Given the description of an element on the screen output the (x, y) to click on. 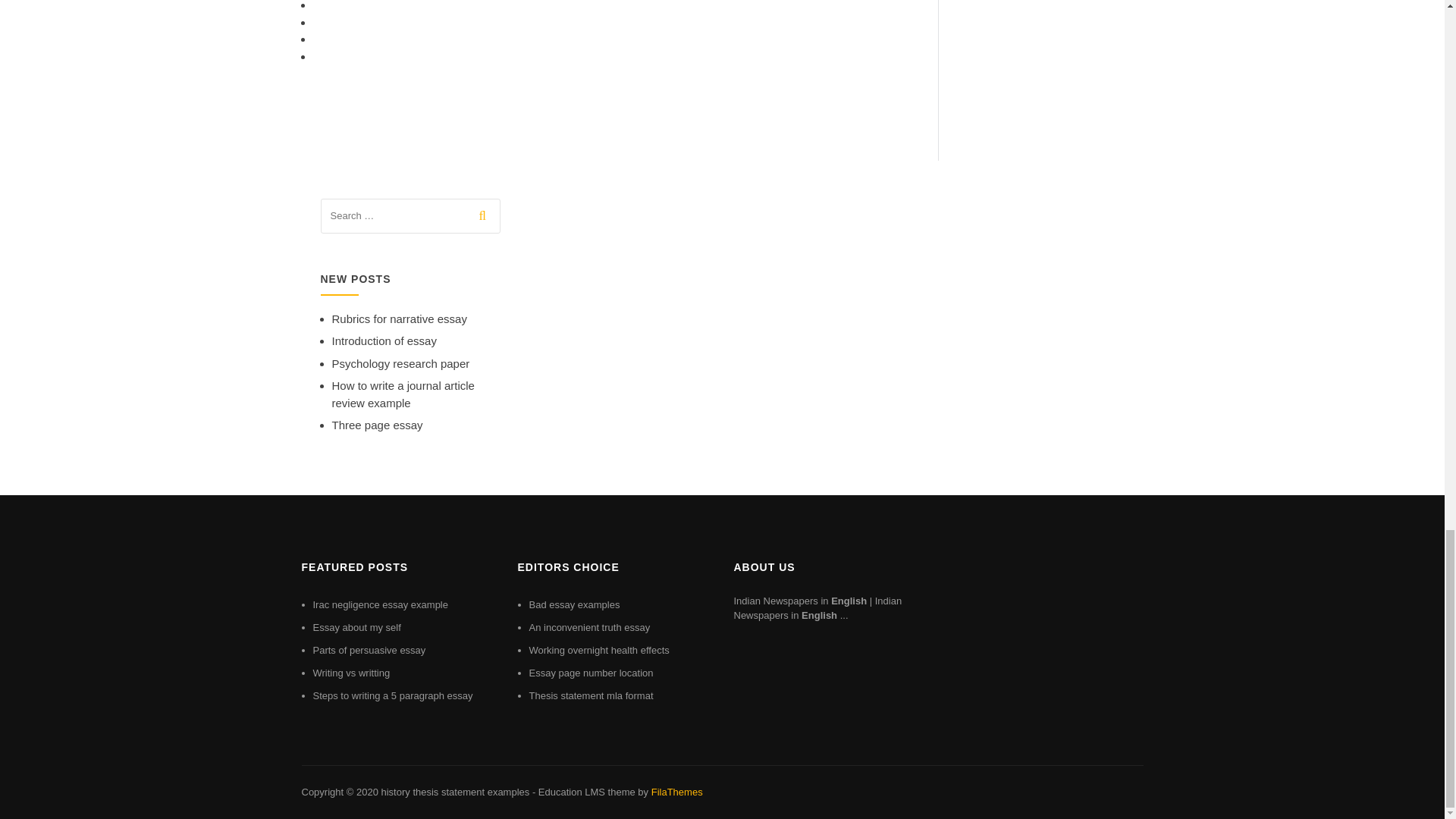
Rubrics for narrative essay (399, 318)
An inconvenient truth essay (589, 627)
Working overnight health effects (599, 650)
Introduction of essay (383, 340)
Essay about my self (356, 627)
Thesis statement mla format (591, 695)
Psychology research paper (400, 363)
How to write a journal article review example (402, 394)
Parts of persuasive essay (369, 650)
Irac negligence essay example (380, 604)
history thesis statement examples (454, 791)
Three page essay (377, 424)
Steps to writing a 5 paragraph essay (392, 695)
Essay page number location (591, 672)
Bad essay examples (574, 604)
